Given the description of an element on the screen output the (x, y) to click on. 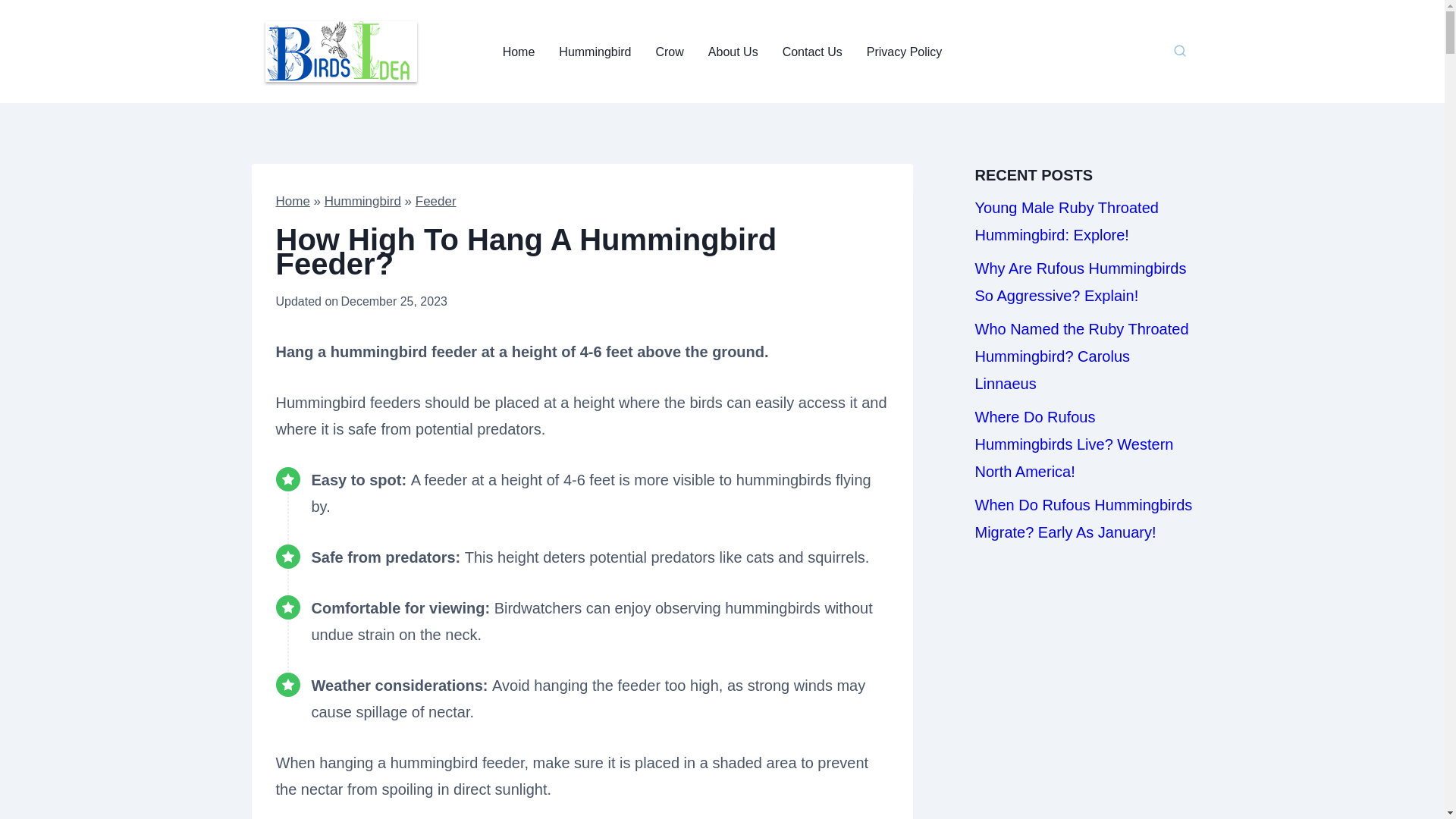
Privacy Policy (904, 51)
Contact Us (812, 51)
Hummingbird (595, 51)
Home (293, 201)
Crow (669, 51)
Hummingbird (362, 201)
Feeder (435, 201)
About Us (732, 51)
Home (518, 51)
